Given the description of an element on the screen output the (x, y) to click on. 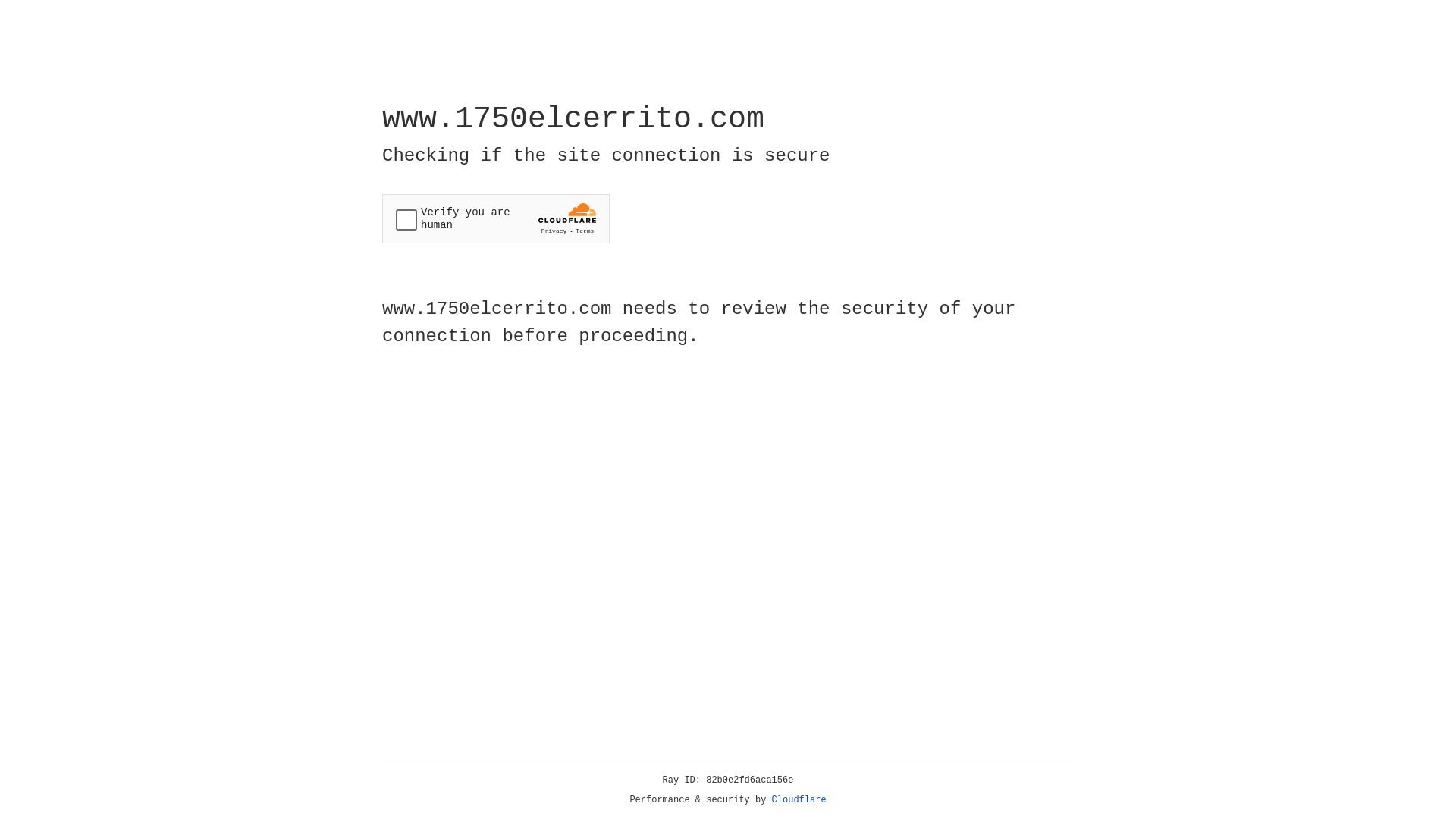
Cloudflare Element type: text (798, 799)
Widget containing a Cloudflare security challenge Element type: hover (495, 218)
